Given the description of an element on the screen output the (x, y) to click on. 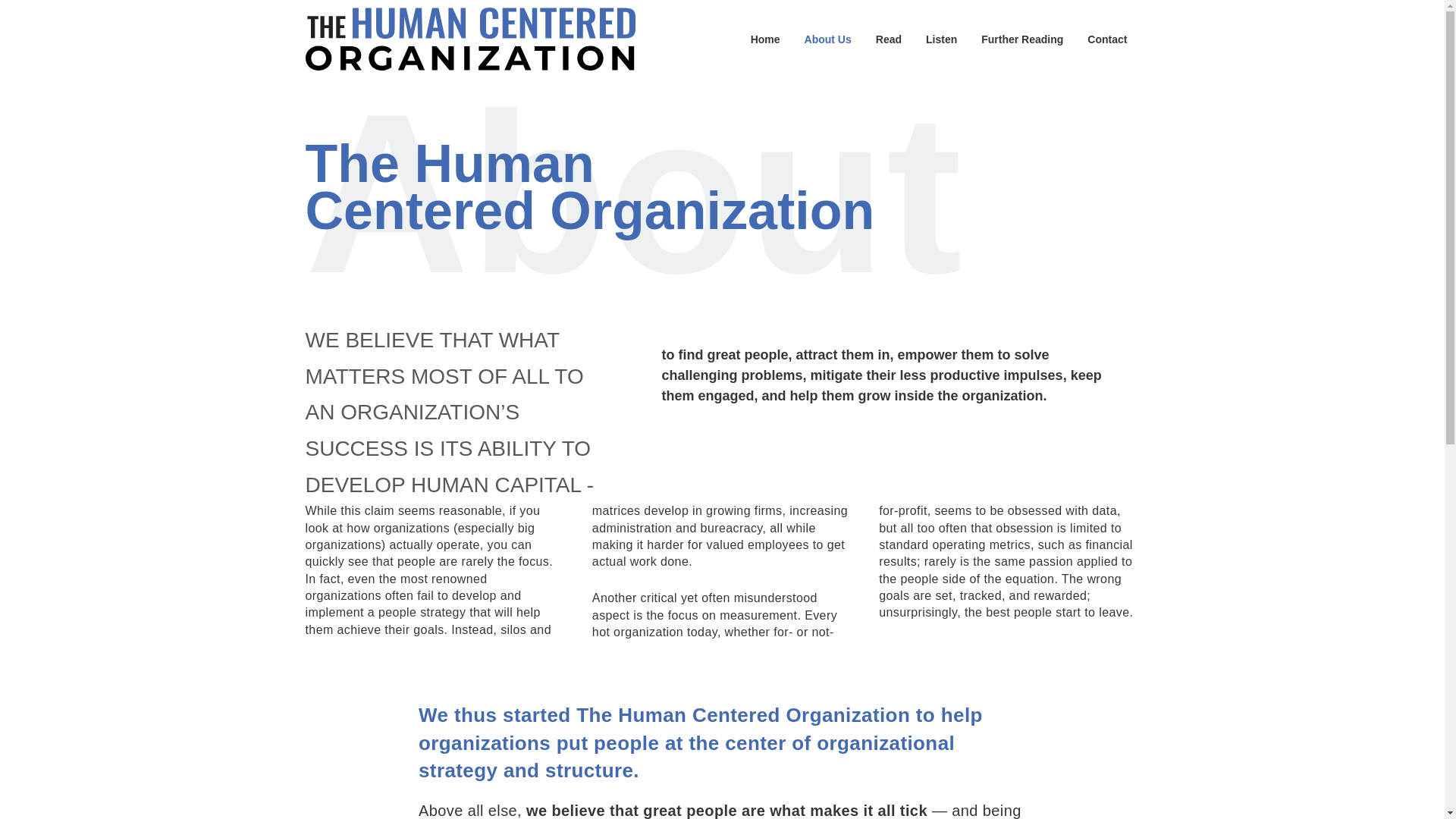
About Us (827, 39)
Contact (1106, 39)
Home (765, 39)
Read (888, 39)
Further Reading (1022, 39)
Listen (941, 39)
